Given the description of an element on the screen output the (x, y) to click on. 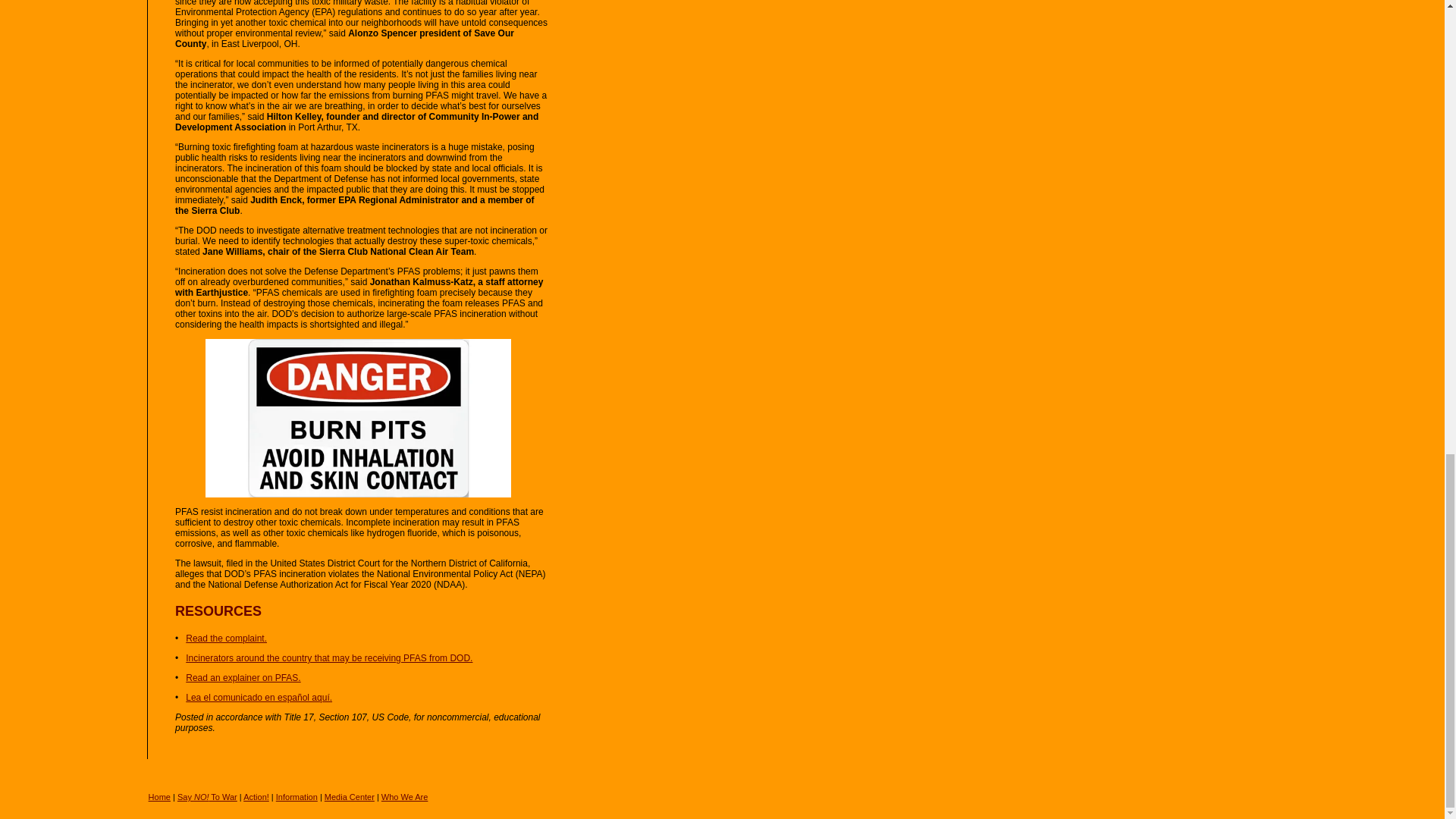
Media Center (349, 796)
Home (159, 796)
Who We Are (404, 796)
Say NO! To War (207, 796)
Action! (256, 796)
Read an explainer on PFAS. (242, 677)
Read the complaint. (226, 638)
Information (296, 796)
